Given the description of an element on the screen output the (x, y) to click on. 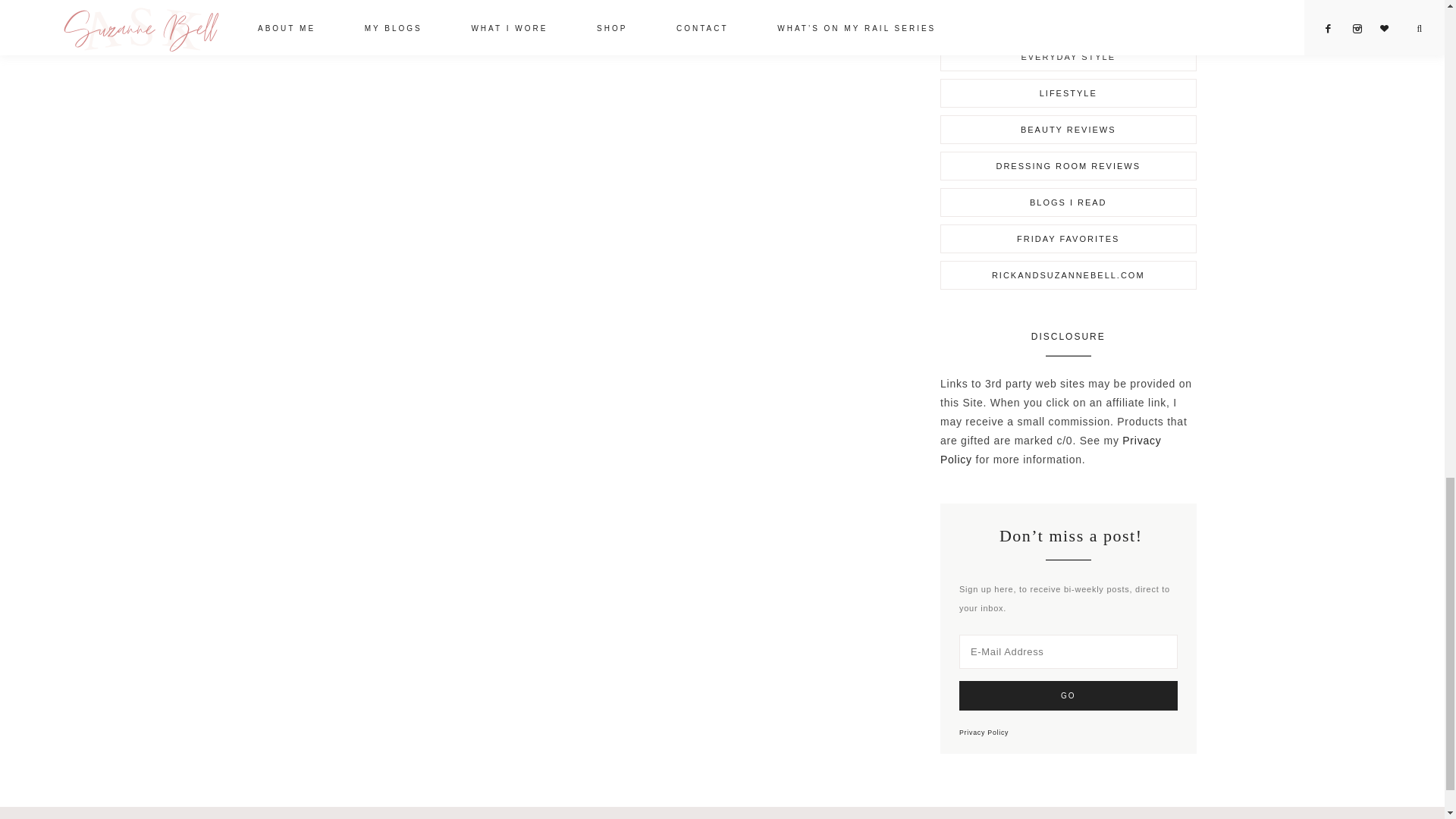
Go (1068, 695)
